Given the description of an element on the screen output the (x, y) to click on. 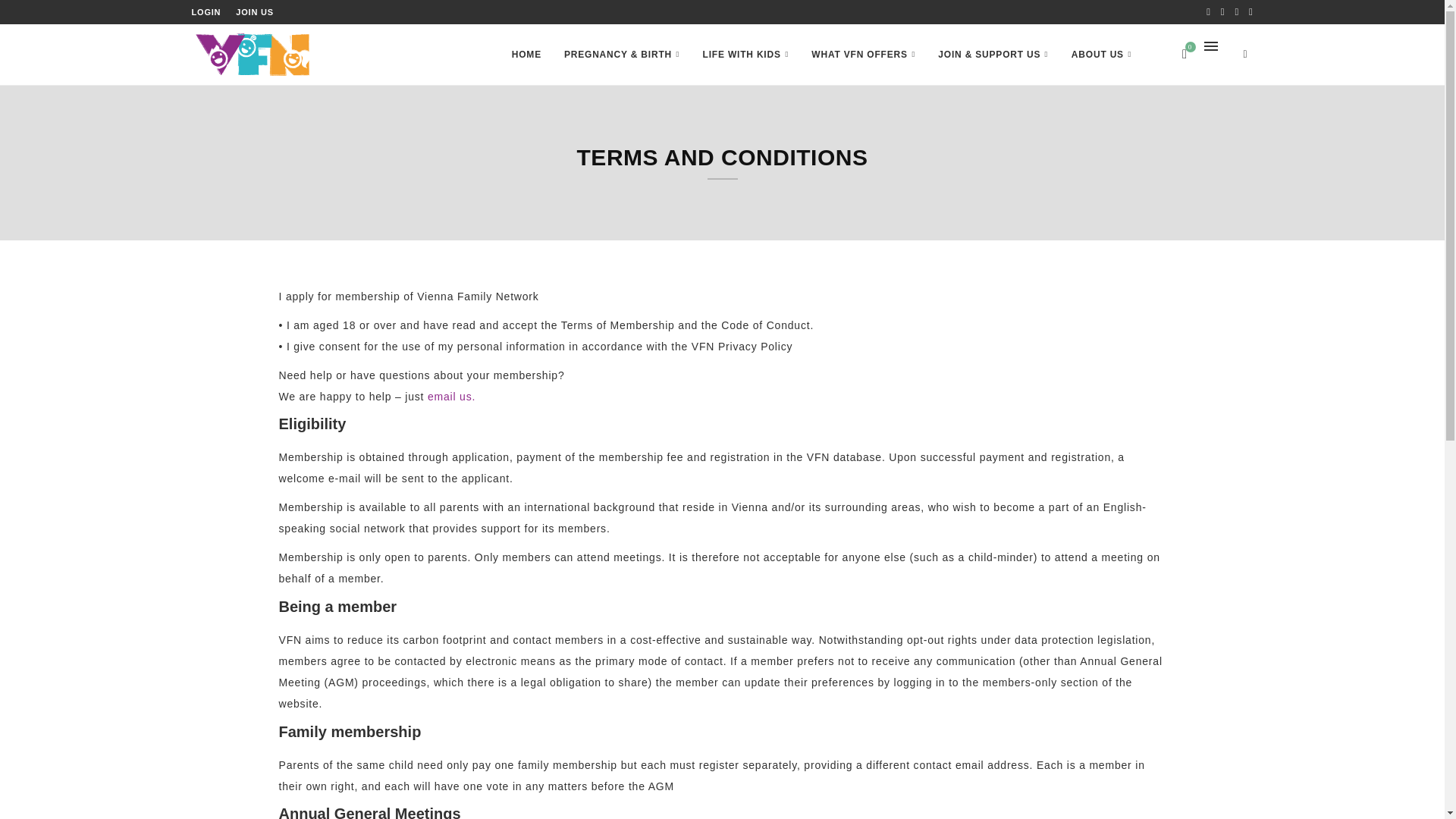
LOGIN (205, 12)
